Given the description of an element on the screen output the (x, y) to click on. 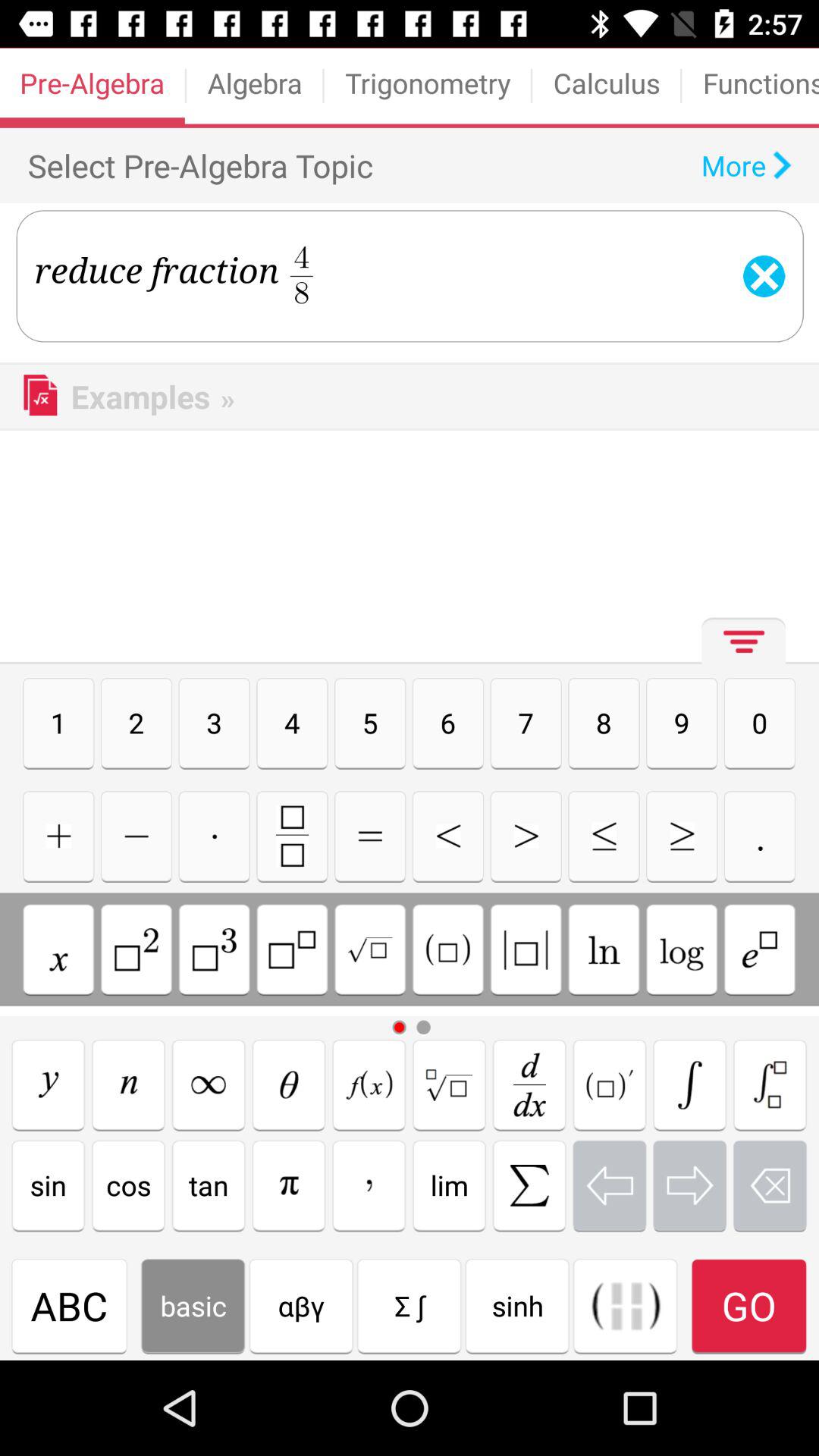
select square root notation (370, 949)
